Given the description of an element on the screen output the (x, y) to click on. 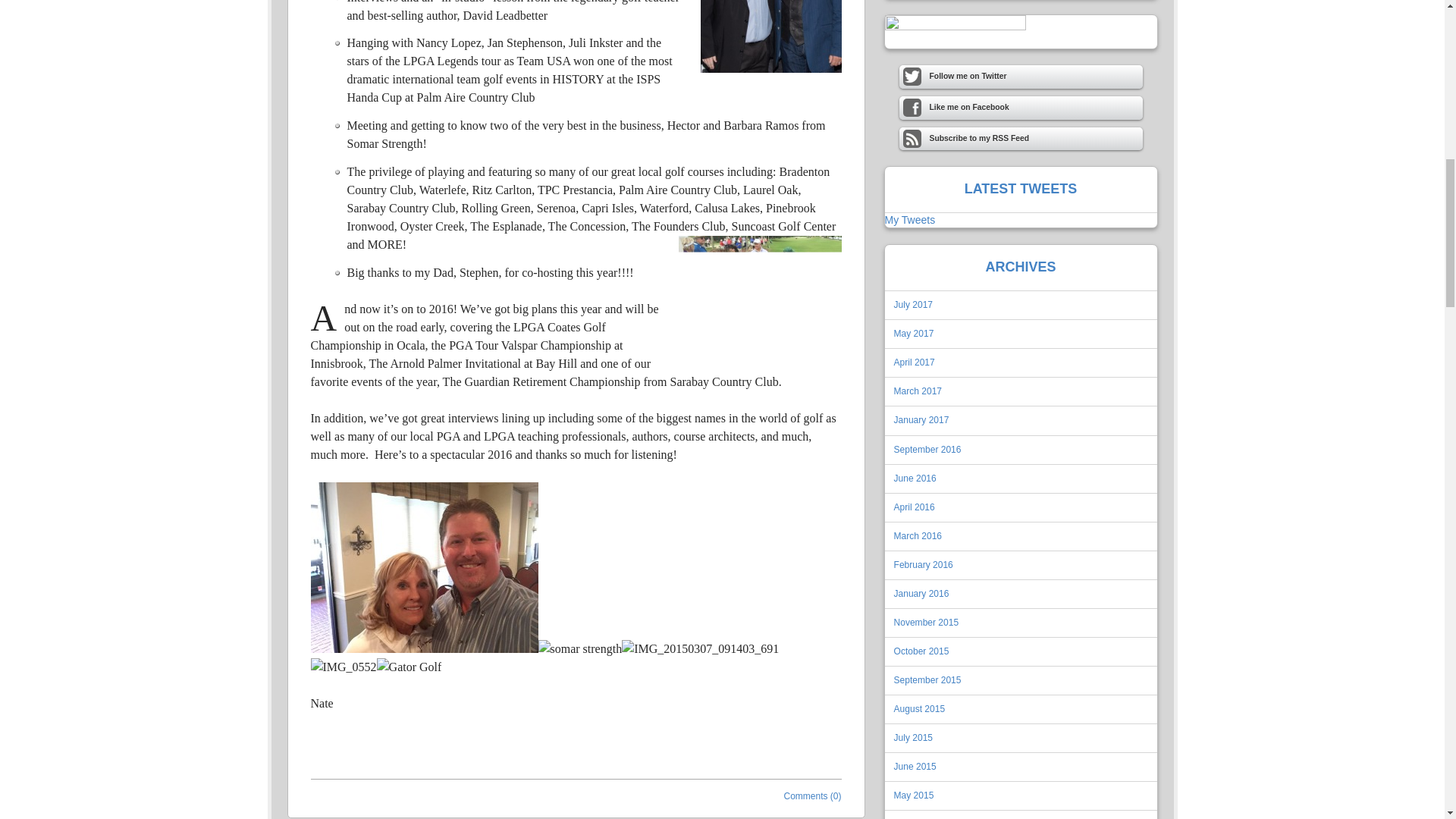
Like me on Facebook (1020, 107)
My Tweets (908, 219)
Subscribe to my RSS Feed (1020, 138)
Follow me on Twitter (1020, 76)
A (324, 318)
